Given the description of an element on the screen output the (x, y) to click on. 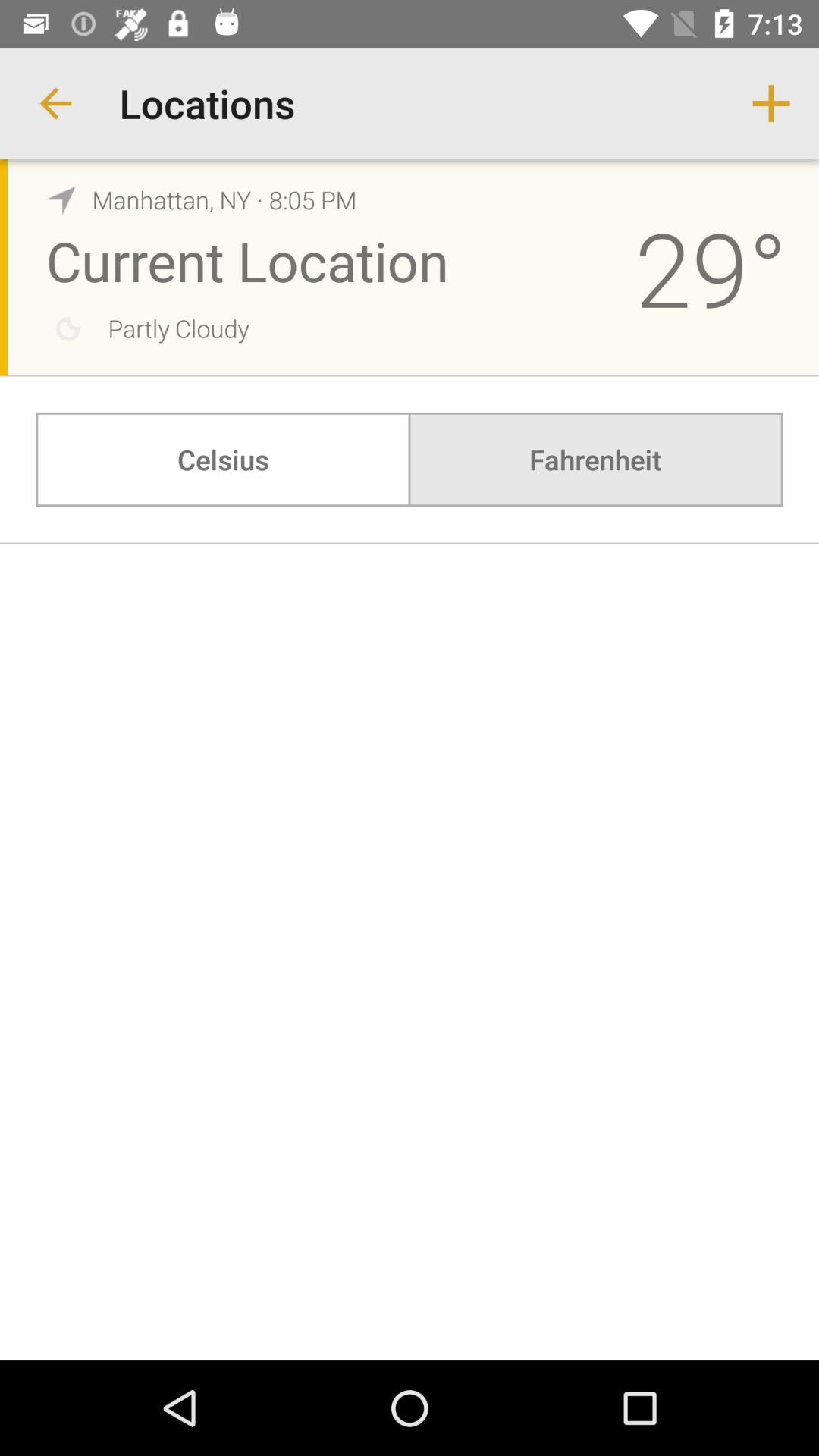
jump until celsius (223, 459)
